Given the description of an element on the screen output the (x, y) to click on. 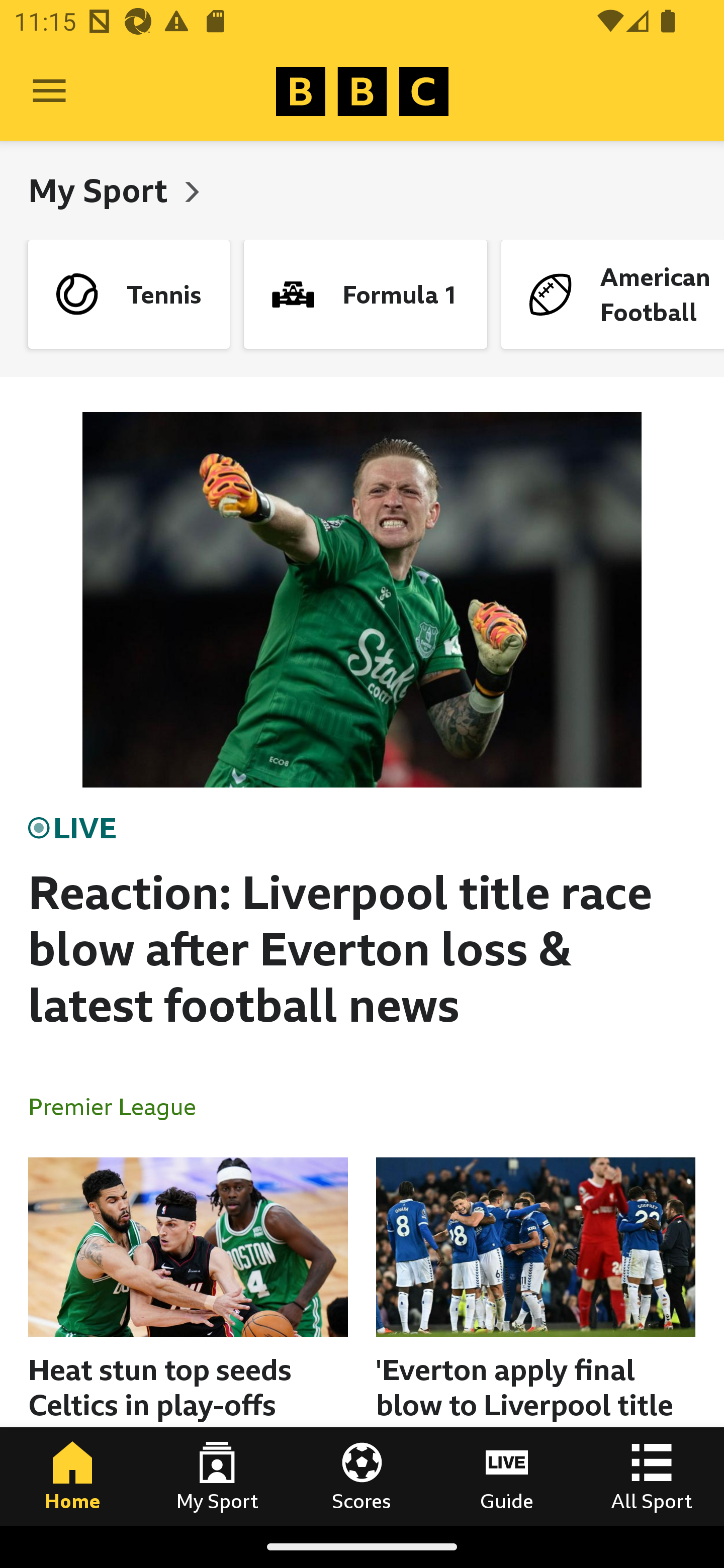
Open Menu (49, 91)
My Sport (101, 190)
Premier League In the section Premier League (119, 1106)
My Sport (216, 1475)
Scores (361, 1475)
Guide (506, 1475)
All Sport (651, 1475)
